Given the description of an element on the screen output the (x, y) to click on. 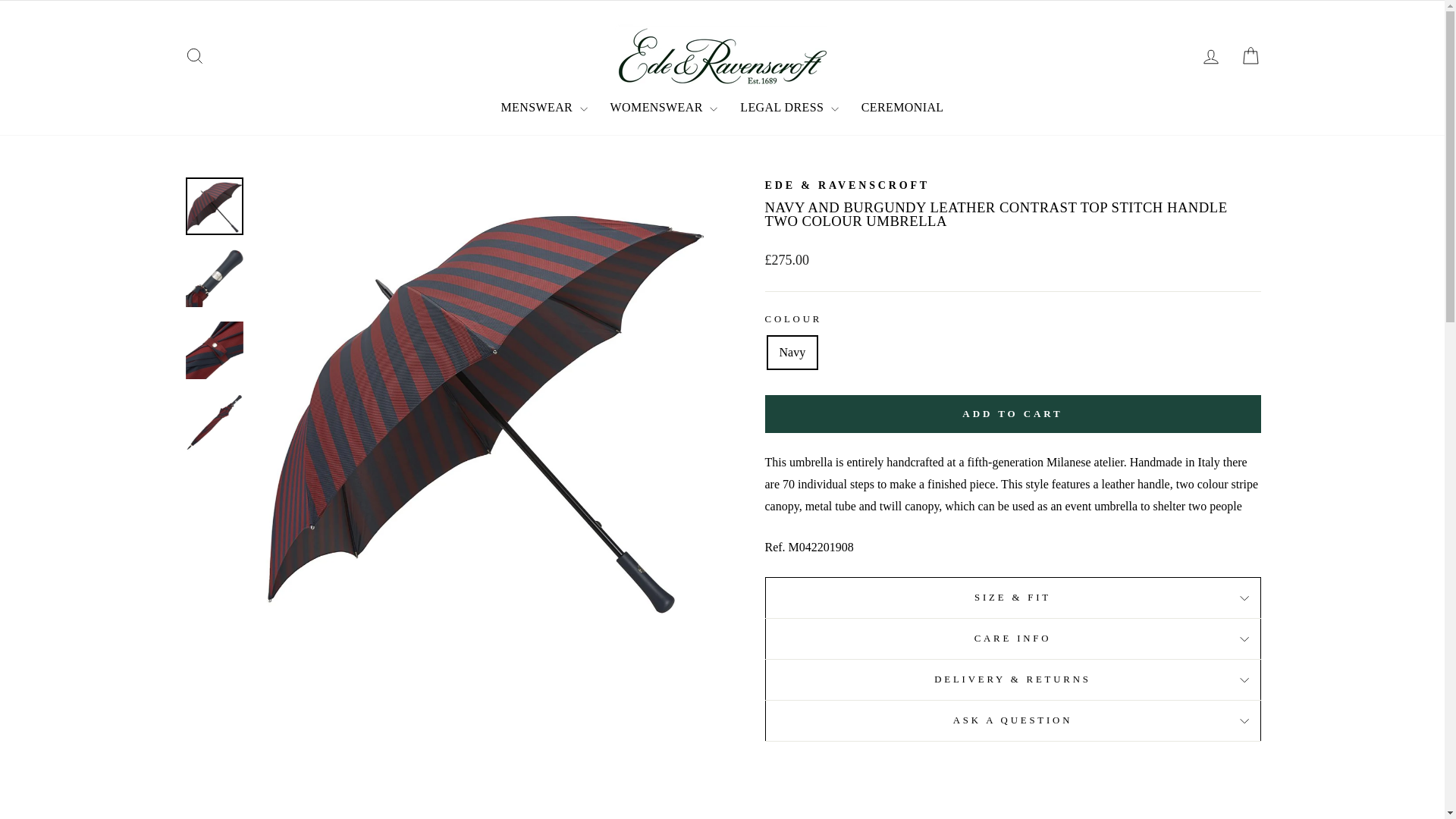
ACCOUNT (1210, 56)
ICON-SEARCH (194, 55)
